Given the description of an element on the screen output the (x, y) to click on. 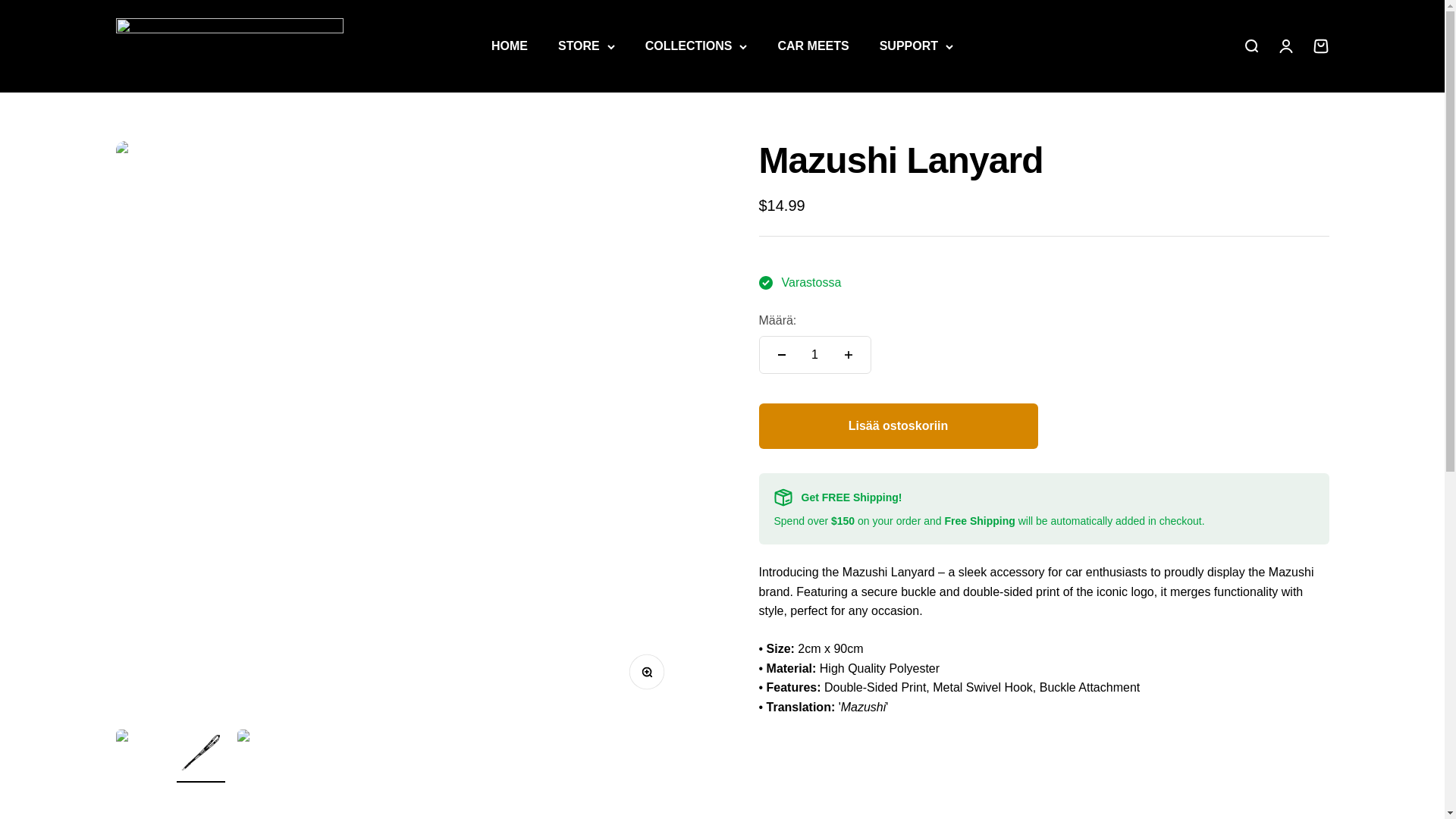
HOME (509, 45)
